Given the description of an element on the screen output the (x, y) to click on. 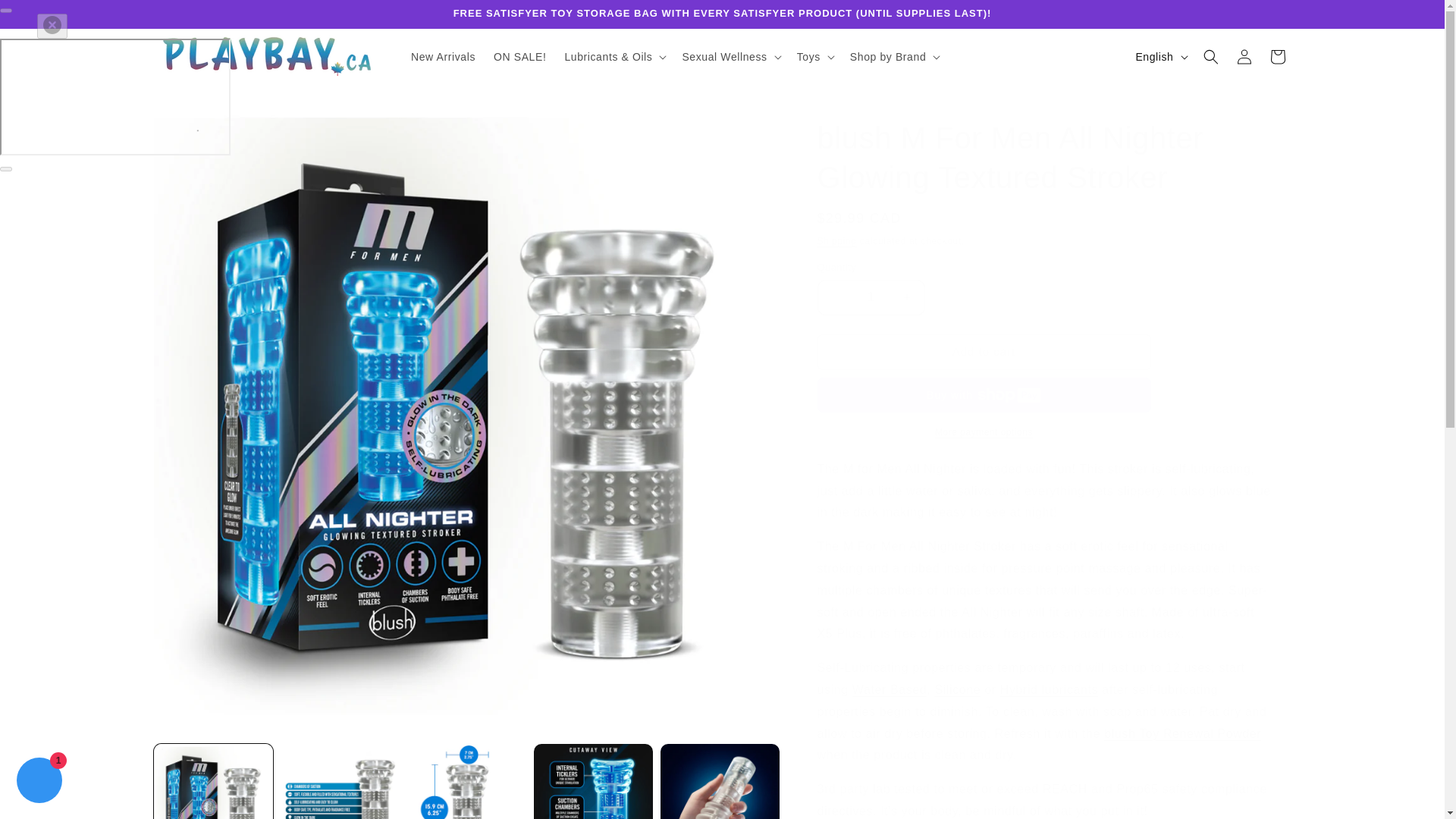
blush Toy Renewal Powder at Playbay.ca (1181, 733)
Skip to content (45, 17)
Playbay.ca Silicone Lubricants collection (956, 689)
1 (870, 297)
Shopify online store chat (38, 781)
Playbay.ca Hybrid Lubricants collection (1048, 689)
Playbay.ca Water Based Lubricants collection (889, 689)
